Given the description of an element on the screen output the (x, y) to click on. 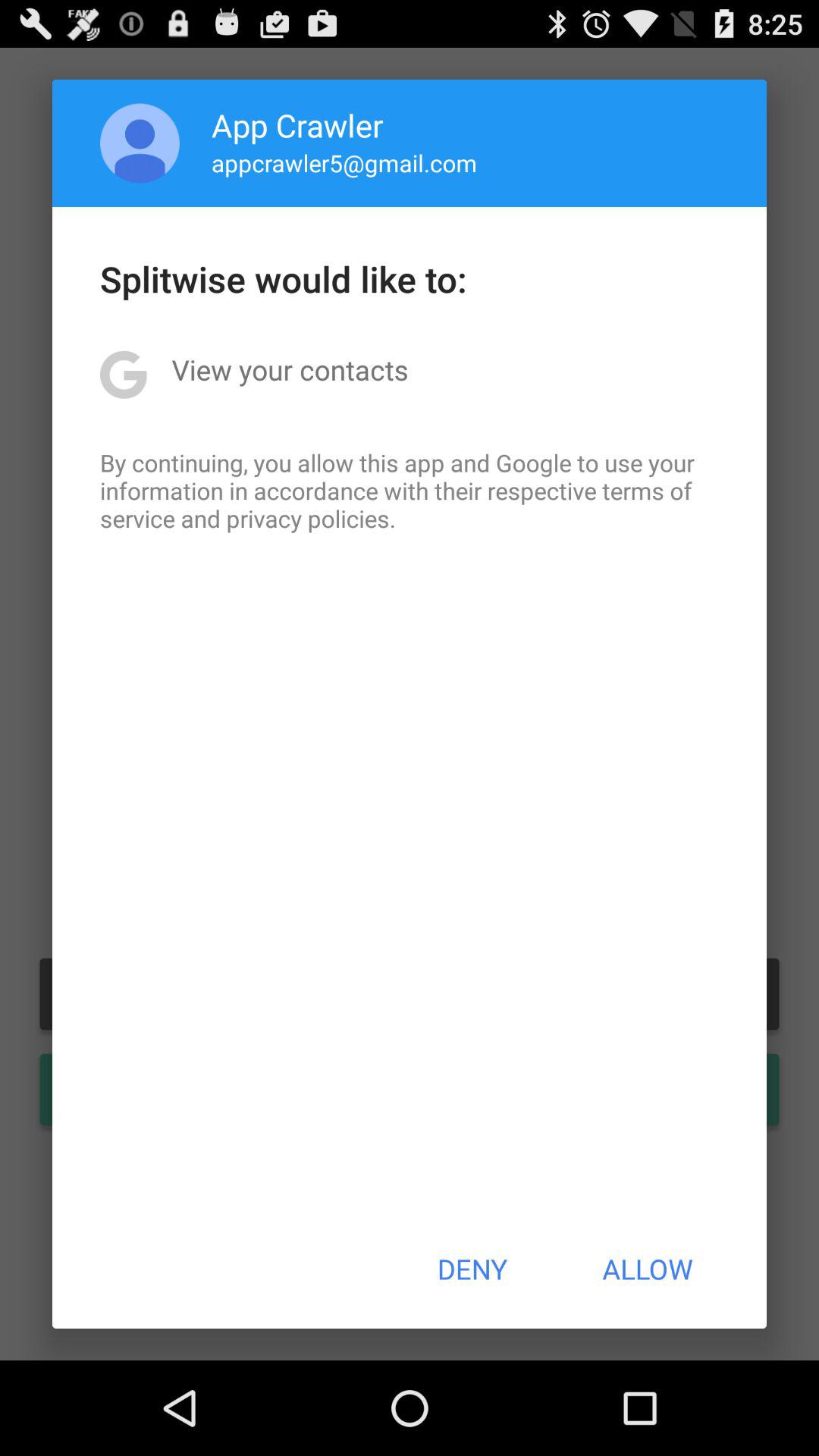
press the item at the bottom (471, 1268)
